Given the description of an element on the screen output the (x, y) to click on. 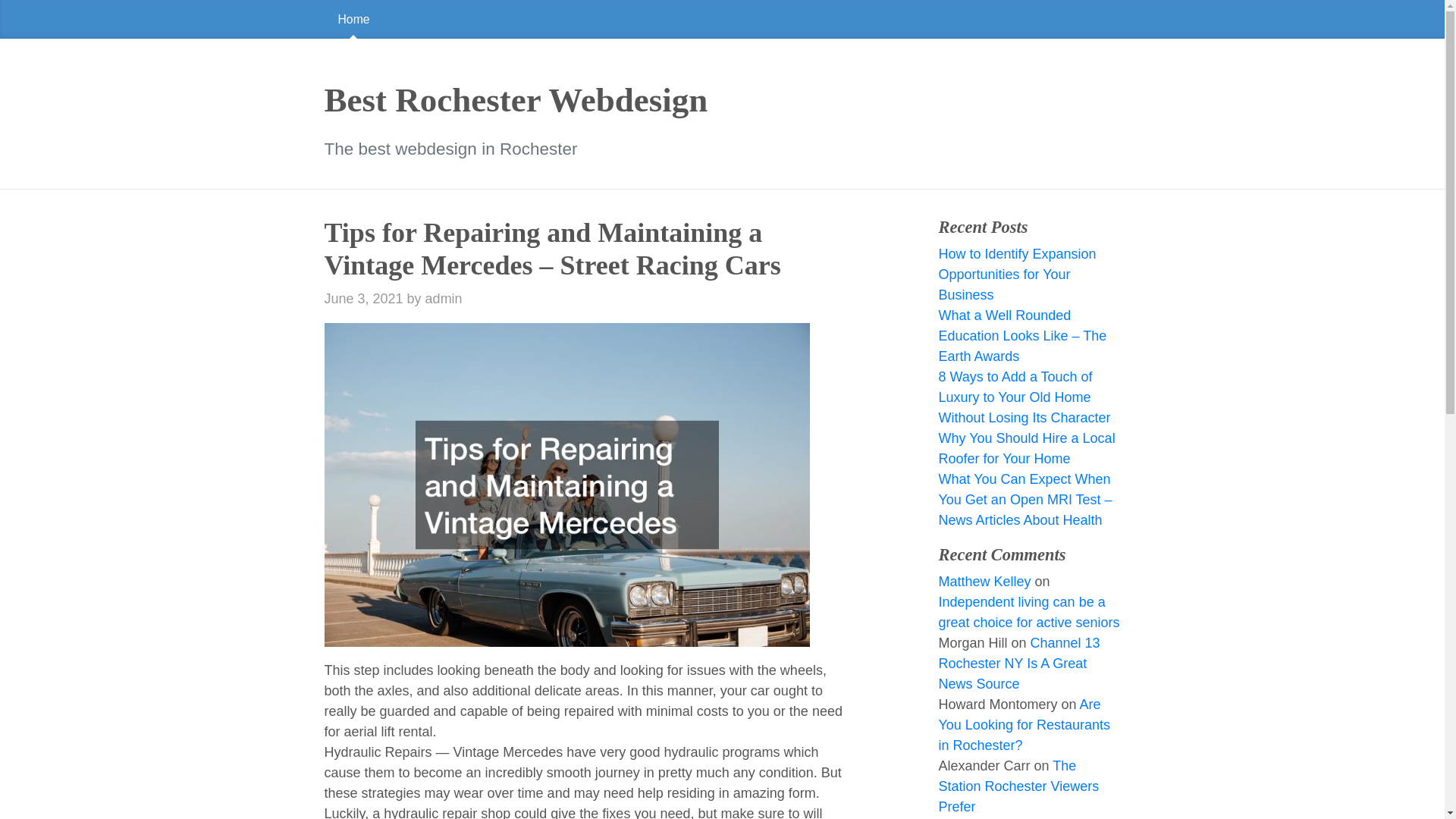
How to Identify Expansion Opportunities for Your Business (1016, 274)
Home (722, 19)
Why You Should Hire a Local Roofer for Your Home (1026, 448)
Matthew Kelley (983, 581)
Independent living can be a great choice for active seniors (1028, 611)
Channel 13 Rochester NY Is A Great News Source (1018, 663)
Home (354, 19)
Are You Looking for Restaurants in Rochester? (1023, 724)
The Station Rochester Viewers Prefer (1018, 786)
